Given the description of an element on the screen output the (x, y) to click on. 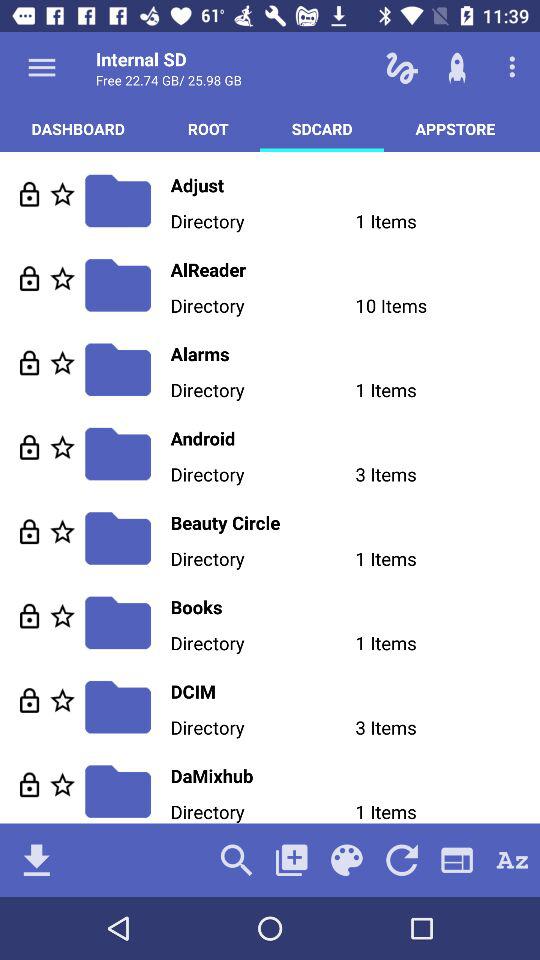
lock folder (29, 784)
